Given the description of an element on the screen output the (x, y) to click on. 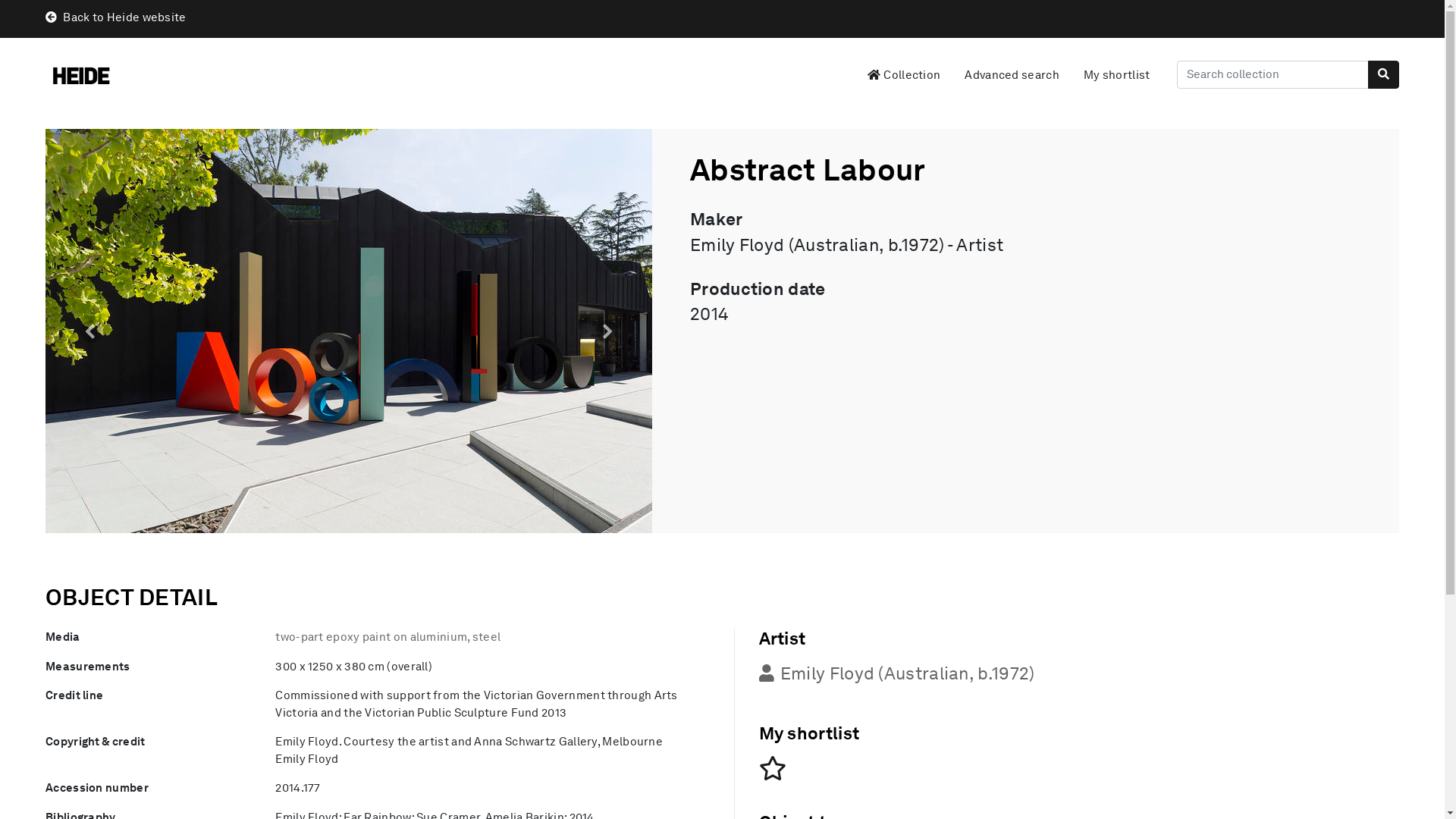
Collection Element type: text (902, 75)
two-part epoxy paint on aluminium, steel Element type: text (387, 636)
Back to Heide website Element type: text (115, 17)
ADD TO SHORTLIST Element type: text (771, 769)
Advanced search Element type: text (1011, 75)
Next Image Element type: text (606, 330)
Previous Image Element type: text (90, 330)
Emily Floyd (Australian, b.1972) Element type: text (896, 673)
Abstract Labour Element type: hover (348, 330)
My shortlist Element type: text (1116, 75)
